Given the description of an element on the screen output the (x, y) to click on. 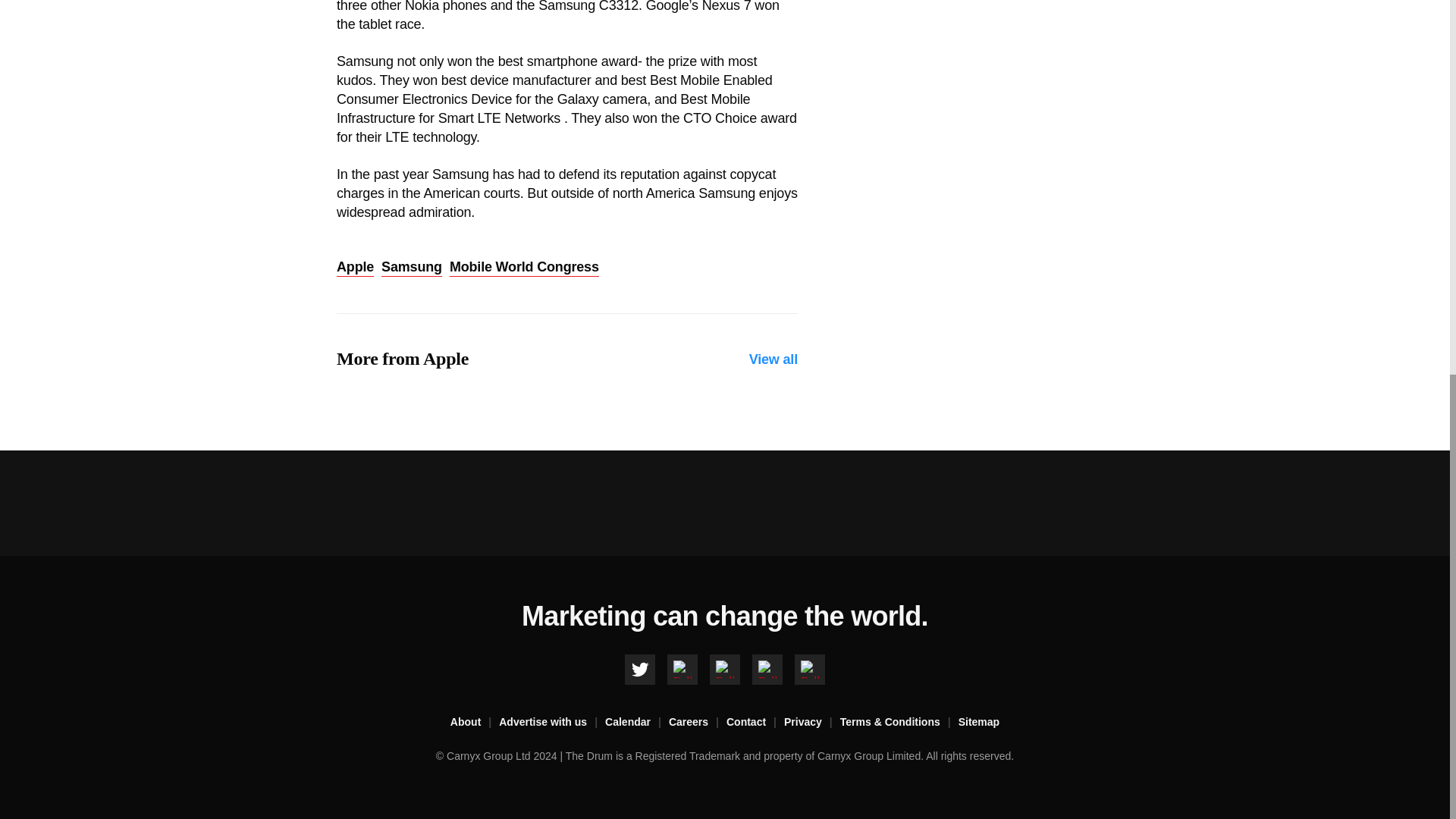
Careers (697, 722)
Apple (355, 267)
About (474, 722)
View all (773, 359)
Calendar (636, 722)
Samsung (411, 267)
Contact (755, 722)
Advertise with us (552, 722)
Mobile World Congress (523, 267)
Privacy (812, 722)
